Given the description of an element on the screen output the (x, y) to click on. 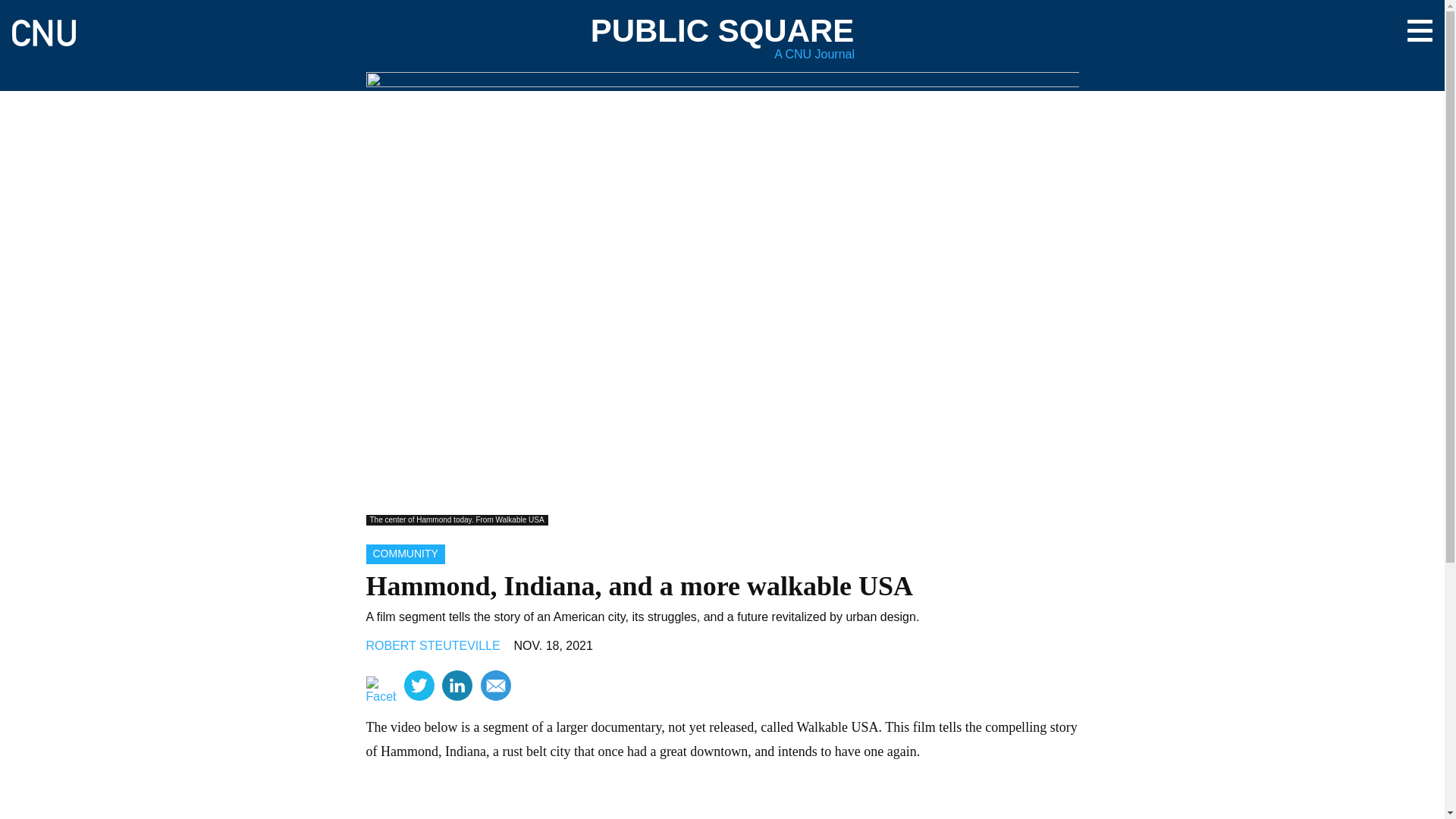
COMMUNITY (404, 554)
Toggle navigation (1419, 30)
ROBERT STEUTEVILLE (432, 645)
PUBLIC SQUARE (722, 30)
MailTo (495, 685)
LinkedIn (456, 685)
Facebook (380, 691)
Home (43, 25)
Twitter (418, 685)
